Given the description of an element on the screen output the (x, y) to click on. 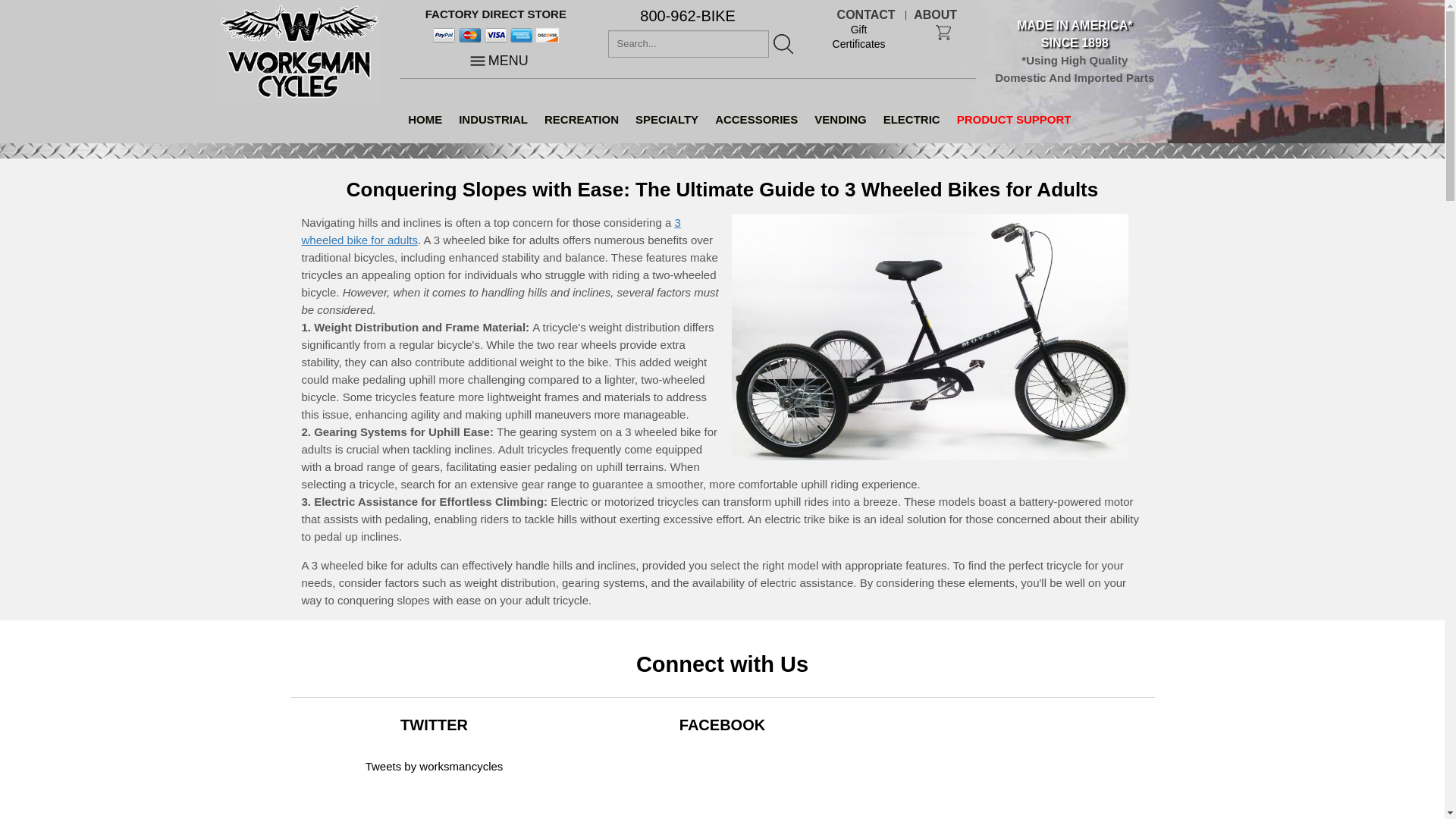
Search... (688, 43)
